Given the description of an element on the screen output the (x, y) to click on. 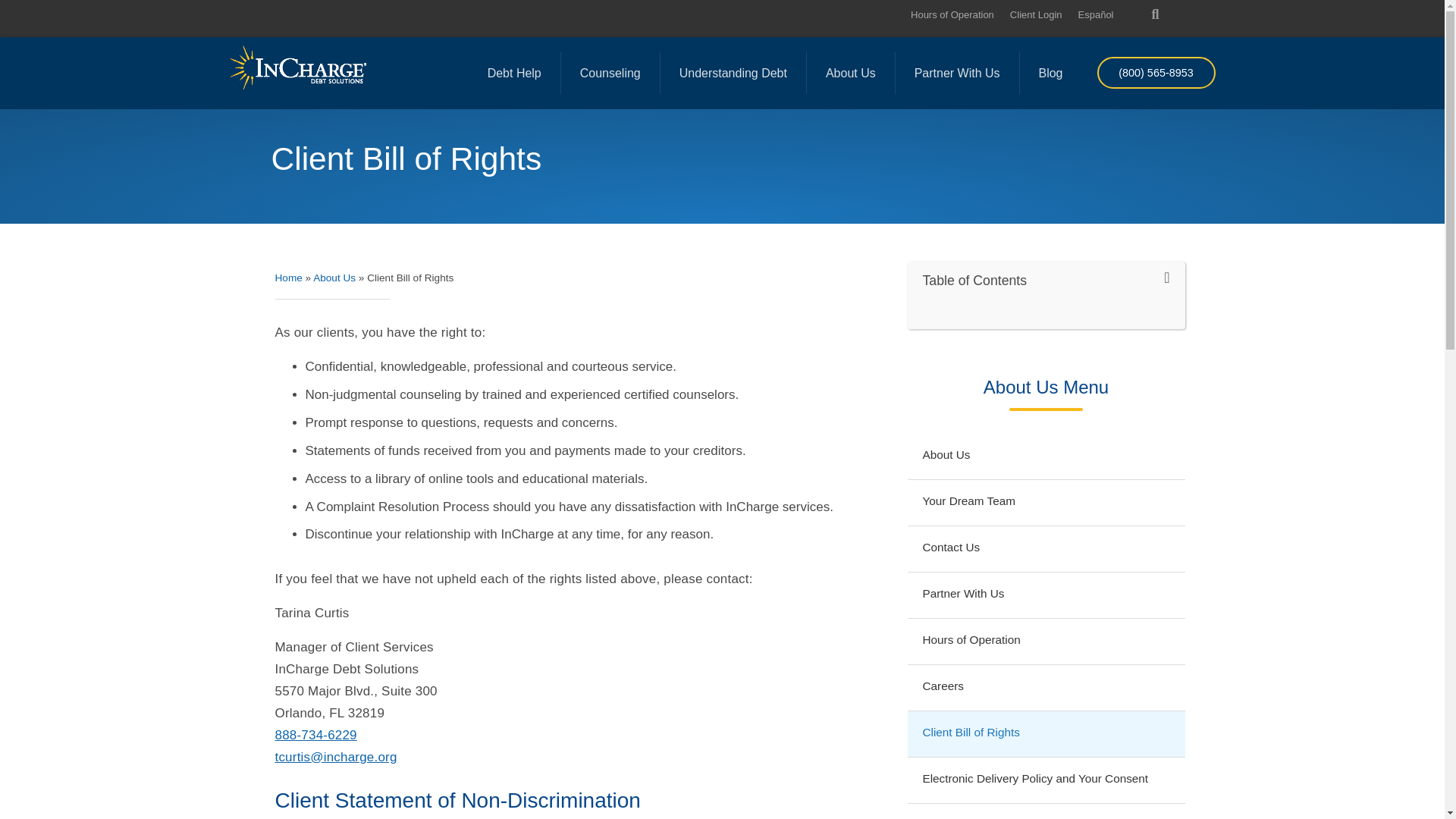
InCharge Logo White and Yellow (296, 67)
Debt Help (514, 73)
Counseling (609, 73)
About Us (850, 73)
Understanding Debt (733, 73)
Click Here (1155, 72)
Hours of Operation (951, 13)
Client Login (1036, 13)
